Given the description of an element on the screen output the (x, y) to click on. 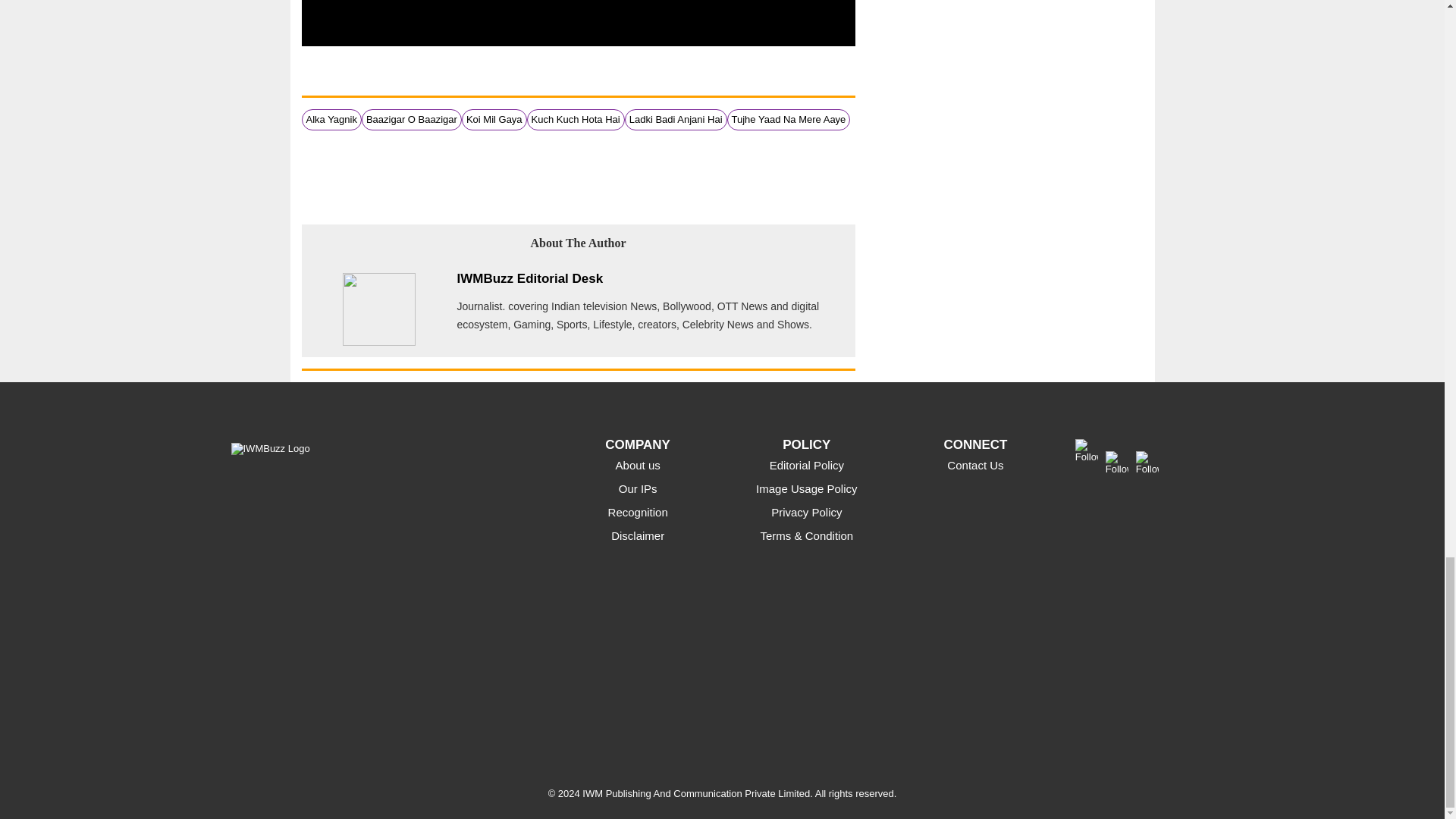
Koi Mil Gaya (493, 119)
Baazigar O Baazigar (411, 119)
Kuch Kuch Hota Hai (575, 119)
Ladki Badi Anjani Hai (675, 119)
IWMBuzz Editorial Desk (529, 278)
Alka Yagnik (330, 119)
Tujhe Yaad Na Mere Aaye (788, 119)
